Given the description of an element on the screen output the (x, y) to click on. 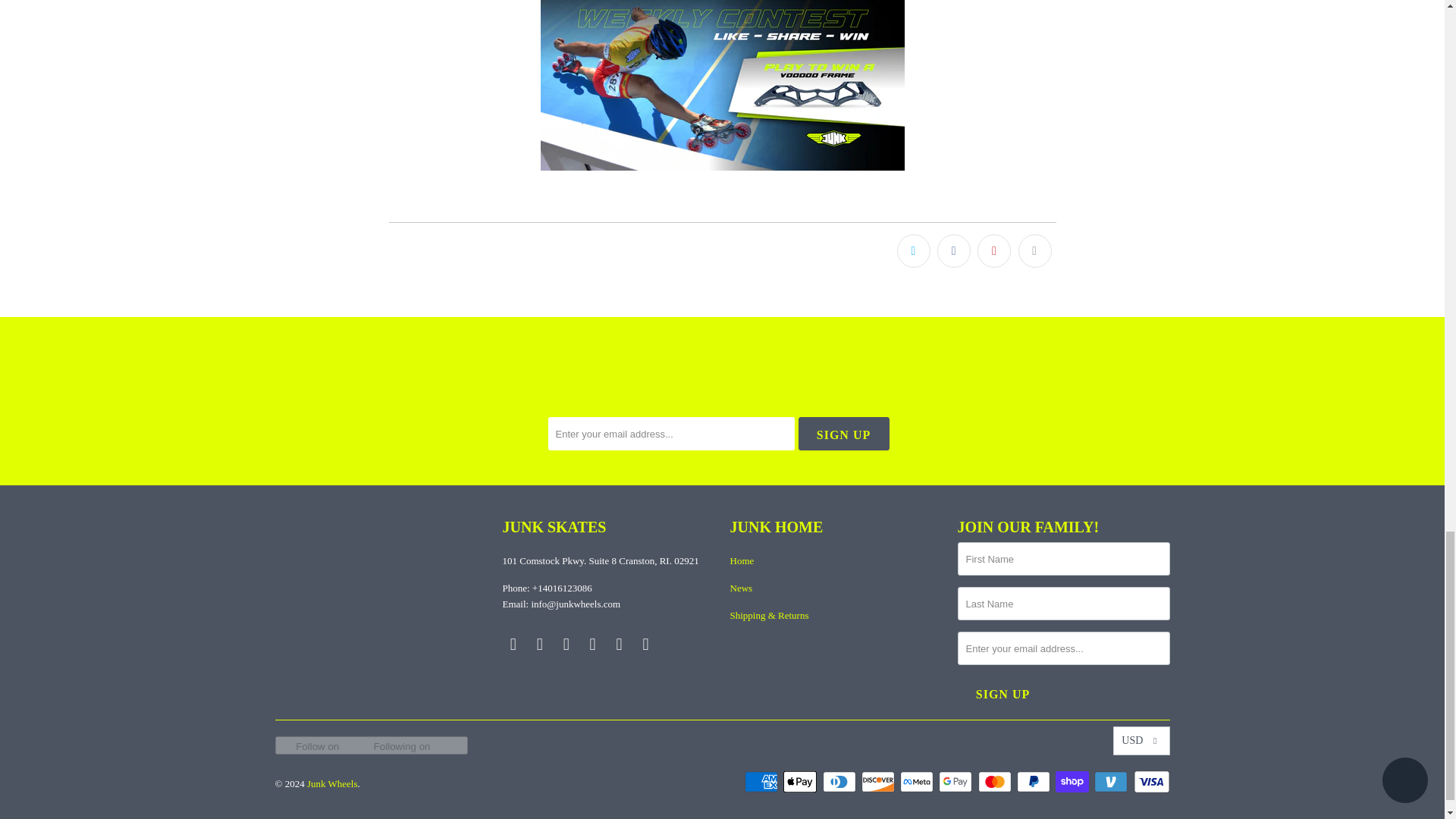
Venmo (1112, 781)
Share this on Twitter (913, 250)
Discover (879, 781)
PayPal (1034, 781)
Meta Pay (917, 781)
Google Pay (957, 781)
Sign Up (842, 433)
Shop Pay (1073, 781)
Mastercard (996, 781)
American Express (762, 781)
